Given the description of an element on the screen output the (x, y) to click on. 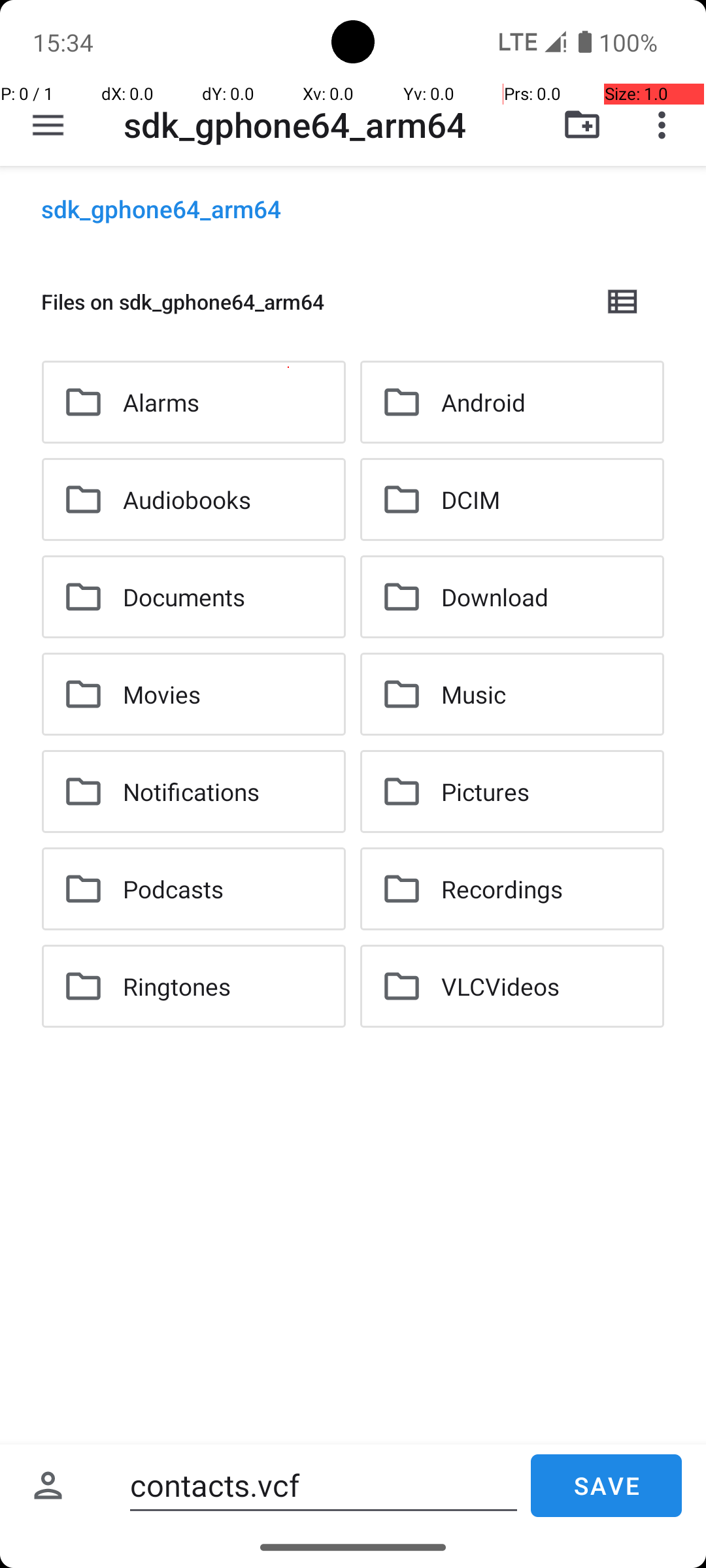
New folder Element type: android.widget.TextView (581, 124)
Files on sdk_gphone64_arm64 Element type: android.widget.TextView (311, 301)
contacts.vcf Element type: android.widget.EditText (323, 1485)
Alarms Element type: android.widget.TextView (160, 401)
Android Element type: android.widget.TextView (483, 401)
Audiobooks Element type: android.widget.TextView (186, 499)
DCIM Element type: android.widget.TextView (470, 499)
Movies Element type: android.widget.TextView (161, 693)
Pictures Element type: android.widget.TextView (485, 791)
Podcasts Element type: android.widget.TextView (172, 888)
Recordings Element type: android.widget.TextView (501, 888)
Ringtones Element type: android.widget.TextView (176, 985)
VLCVideos Element type: android.widget.TextView (500, 985)
